Given the description of an element on the screen output the (x, y) to click on. 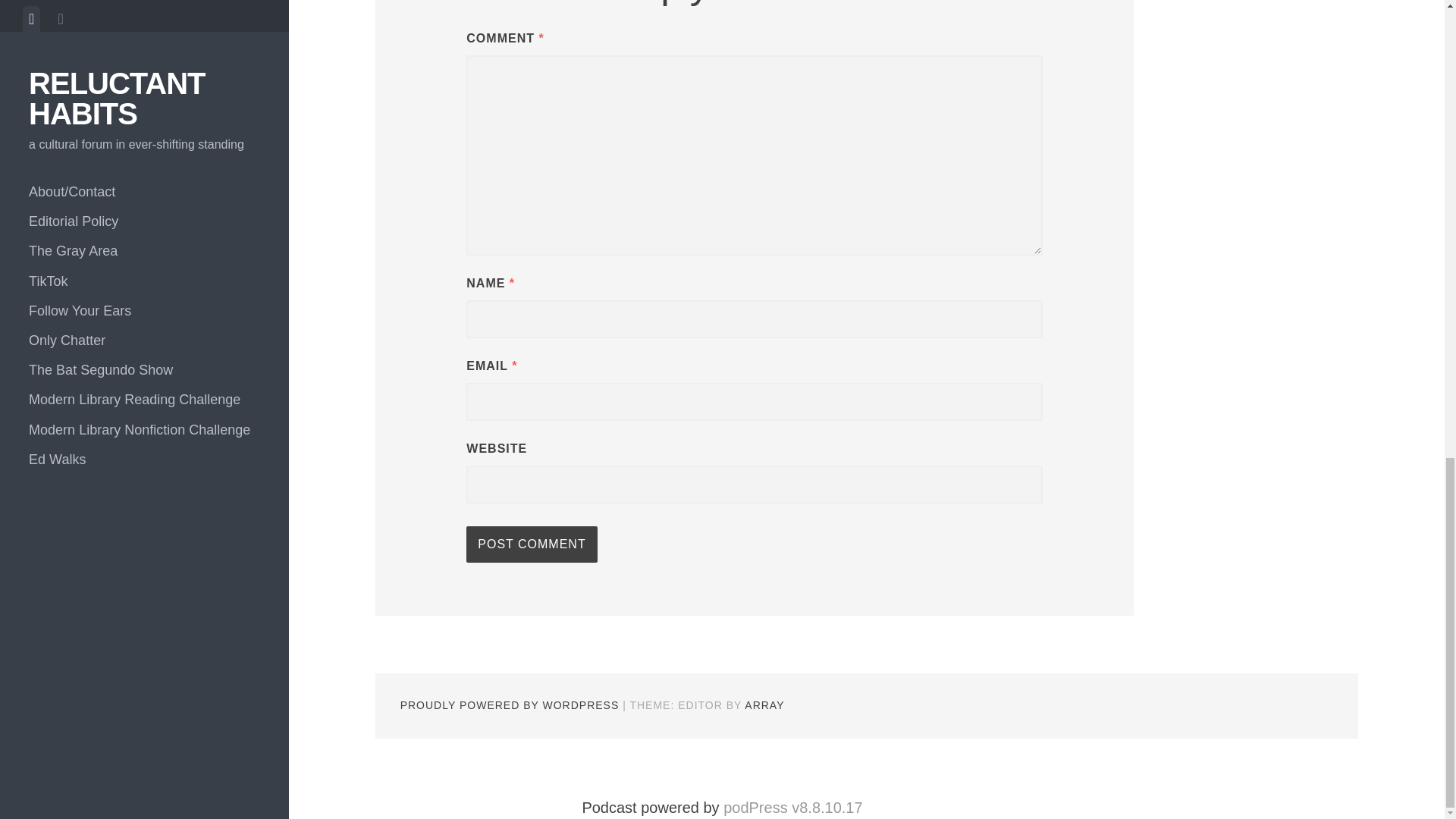
Post Comment (530, 544)
podPress, a plugin for podcasting with WordPress (792, 807)
